Given the description of an element on the screen output the (x, y) to click on. 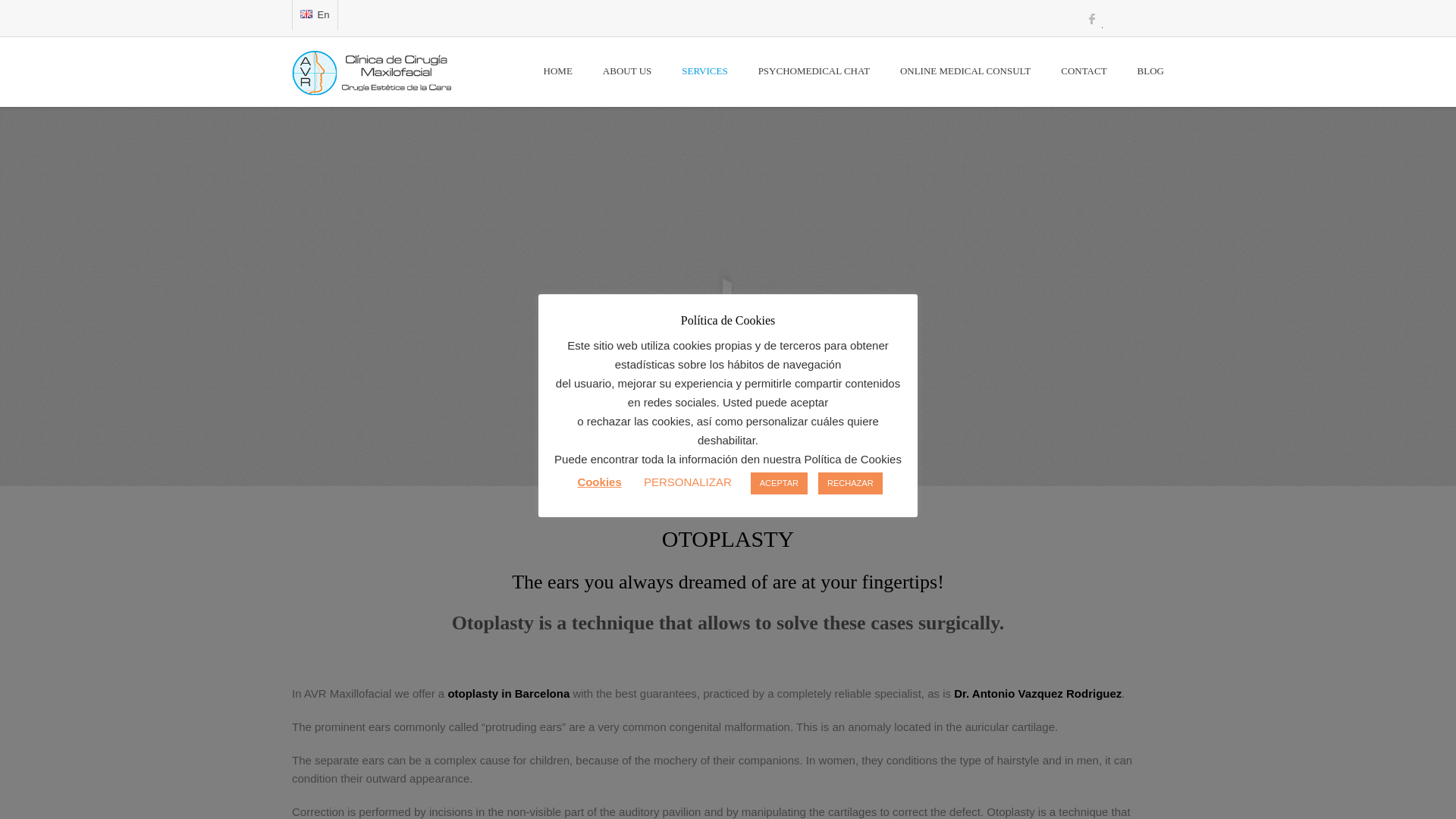
CONTACT (1083, 72)
BLOG (1142, 72)
En (306, 13)
. (1092, 24)
PSYCHOMEDICAL CHAT (813, 72)
ABOUT US (627, 72)
ONLINE MEDICAL CONSULT (965, 72)
HOME (558, 72)
AVR (378, 78)
En (314, 15)
SERVICES (704, 72)
